Given the description of an element on the screen output the (x, y) to click on. 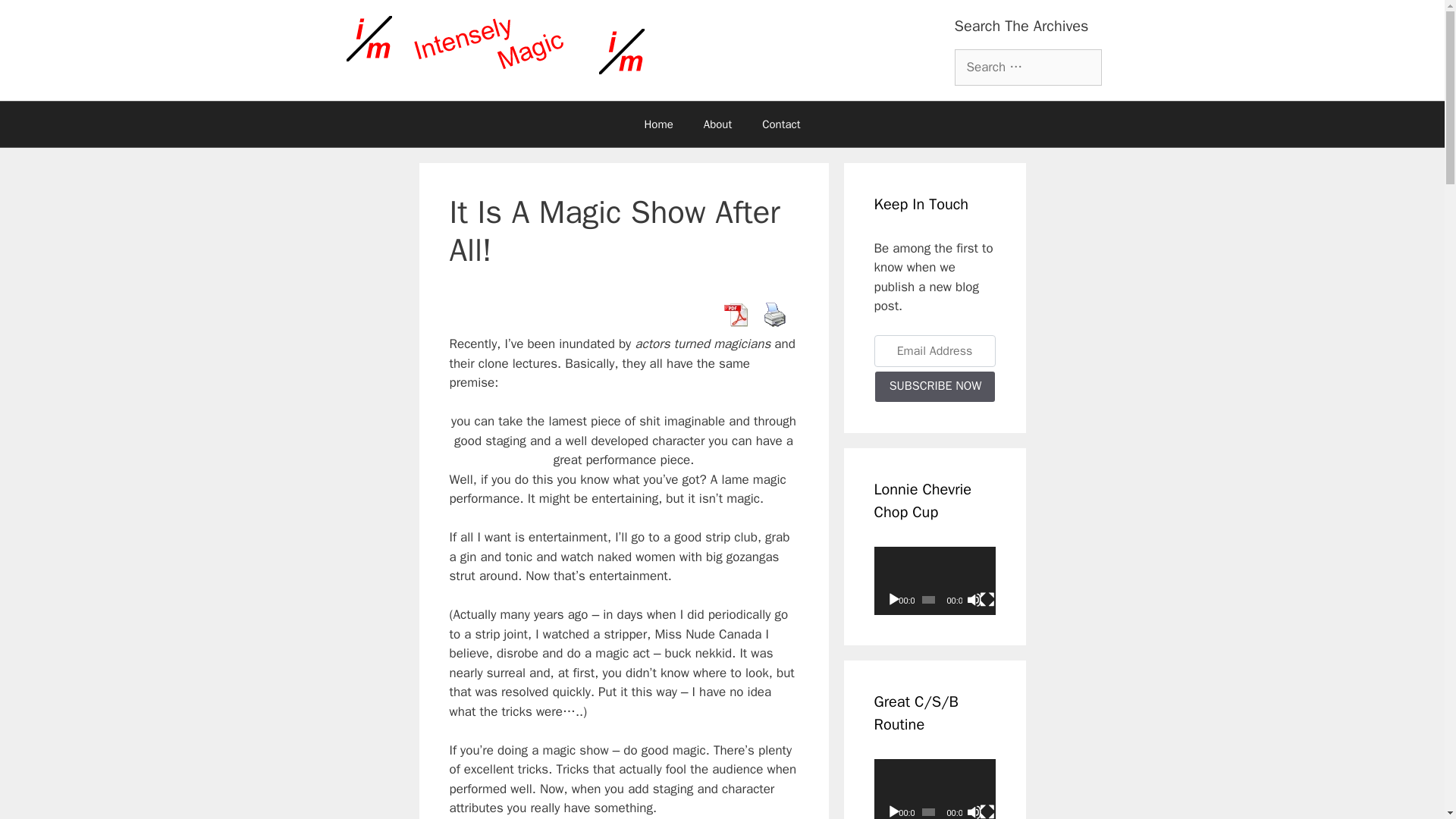
Mute (973, 811)
SUBSCRIBE NOW (933, 386)
Fullscreen (986, 599)
SUBSCRIBE NOW (933, 386)
Mute (973, 599)
Play (893, 811)
Contact (780, 124)
View PDF (735, 314)
Home (657, 124)
Fullscreen (986, 811)
Print Content (774, 314)
Search (35, 18)
About (717, 124)
Play (893, 599)
Search for: (1026, 67)
